Given the description of an element on the screen output the (x, y) to click on. 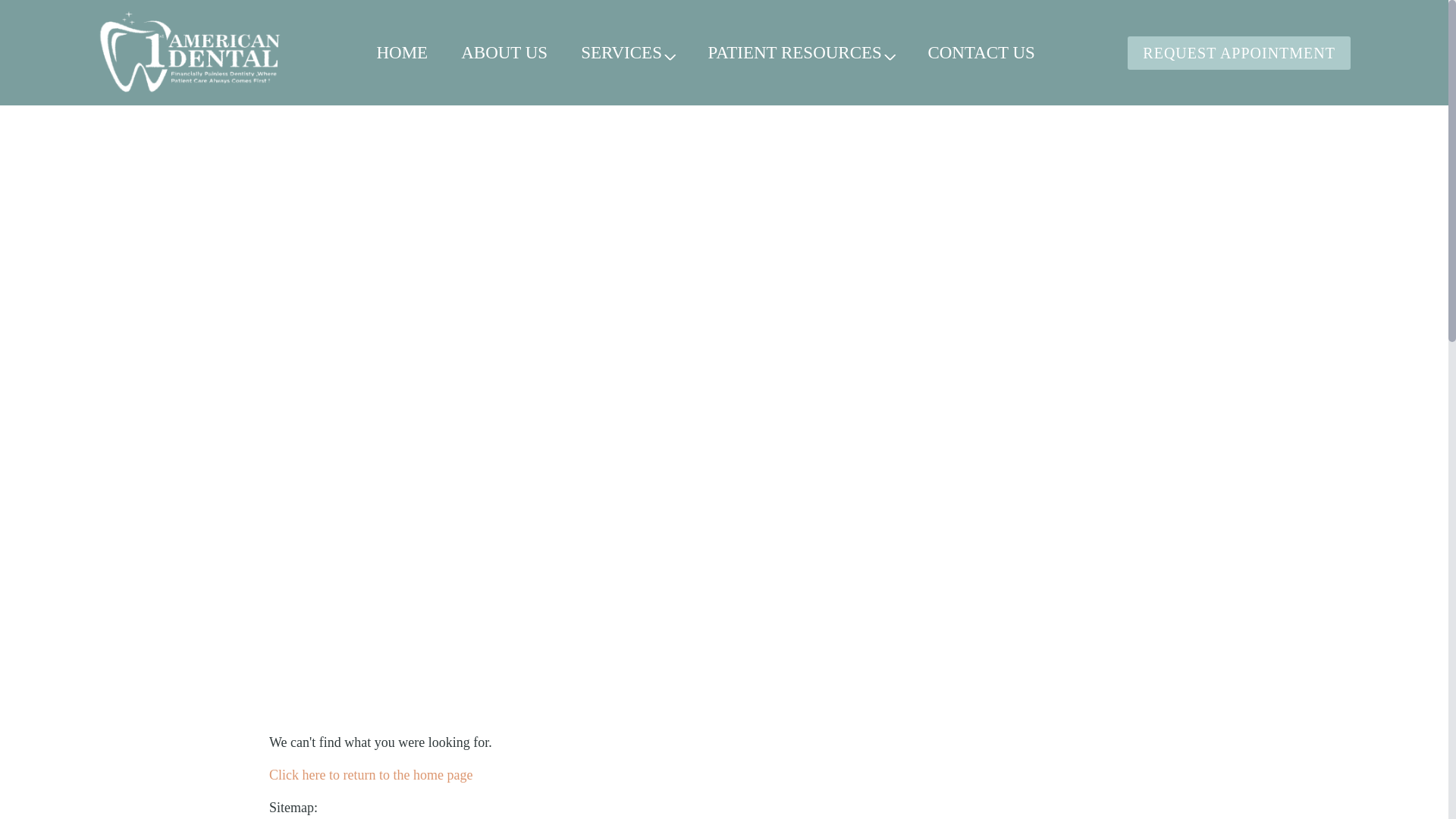
SERVICES Element type: text (627, 52)
PATIENT RESOURCES Element type: text (800, 52)
CONTACT US Element type: text (980, 52)
HOME Element type: text (401, 52)
Click here to return to the home page Element type: text (370, 774)
ABOUT US Element type: text (504, 52)
REQUEST APPOINTMENT Element type: text (1238, 52)
